Given the description of an element on the screen output the (x, y) to click on. 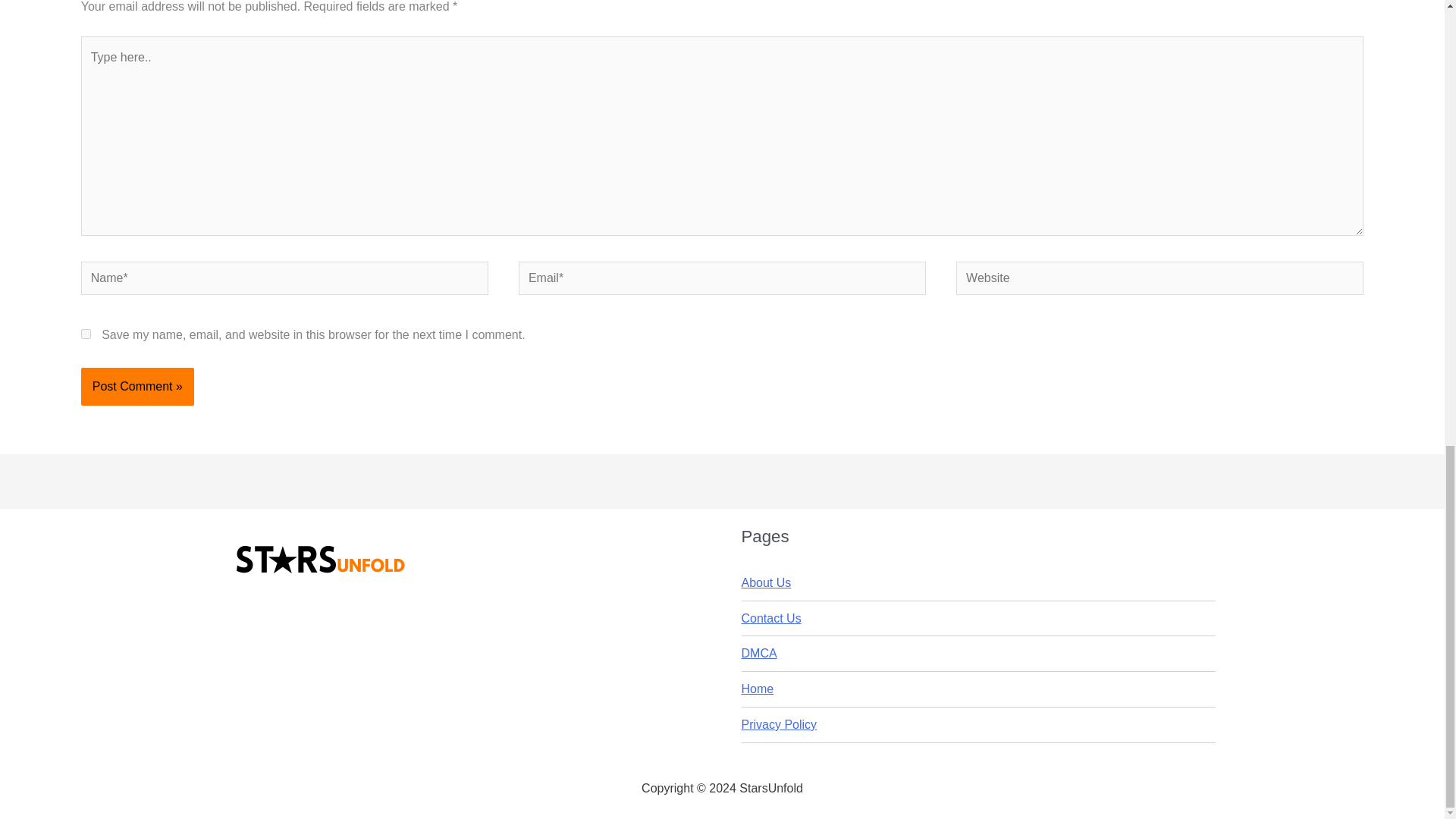
yes (85, 334)
Privacy Policy (778, 724)
Home (757, 688)
Contact Us (771, 617)
DMCA (759, 653)
About Us (766, 582)
